Given the description of an element on the screen output the (x, y) to click on. 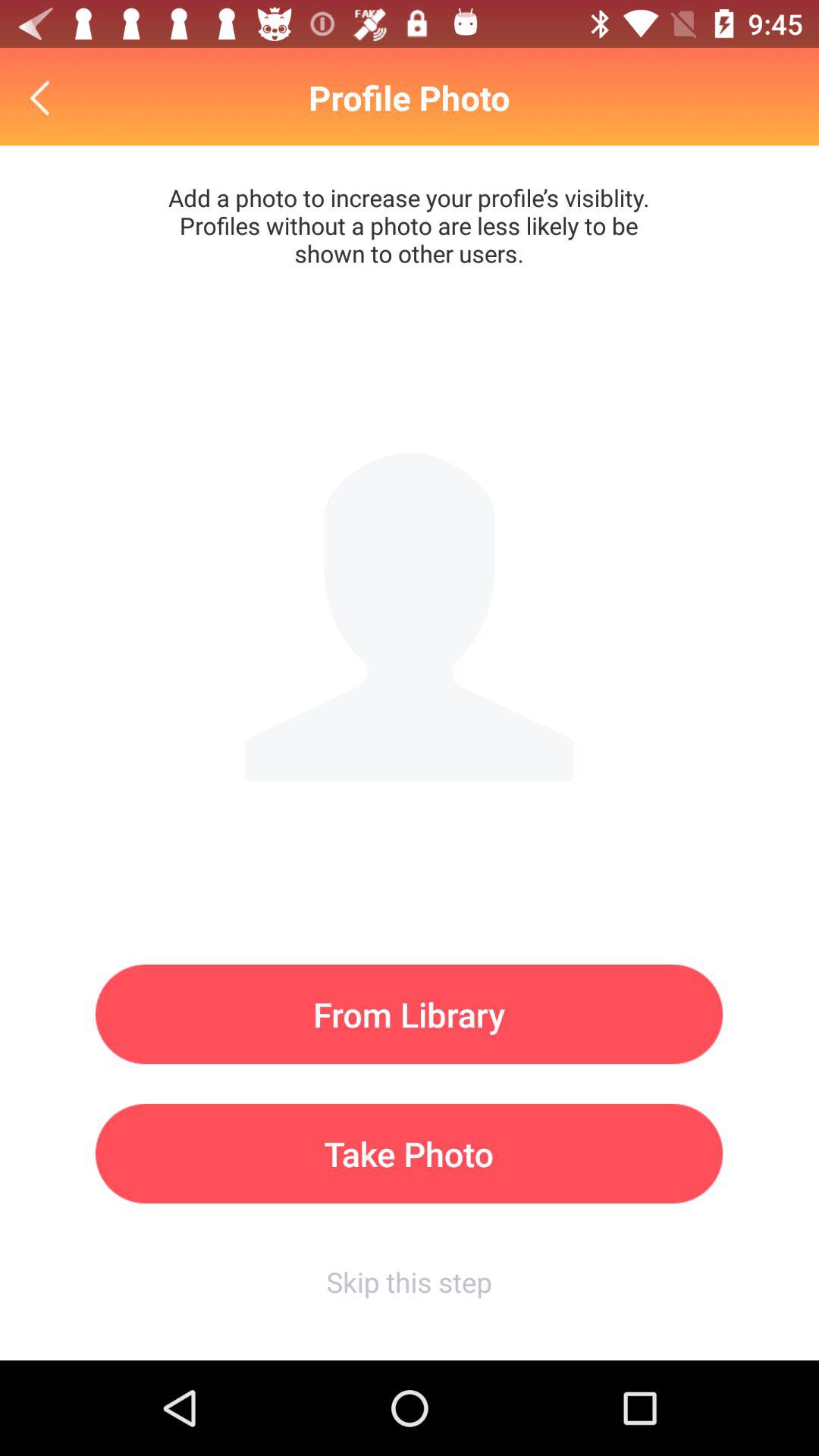
turn on the item above the skip this step icon (408, 1153)
